Given the description of an element on the screen output the (x, y) to click on. 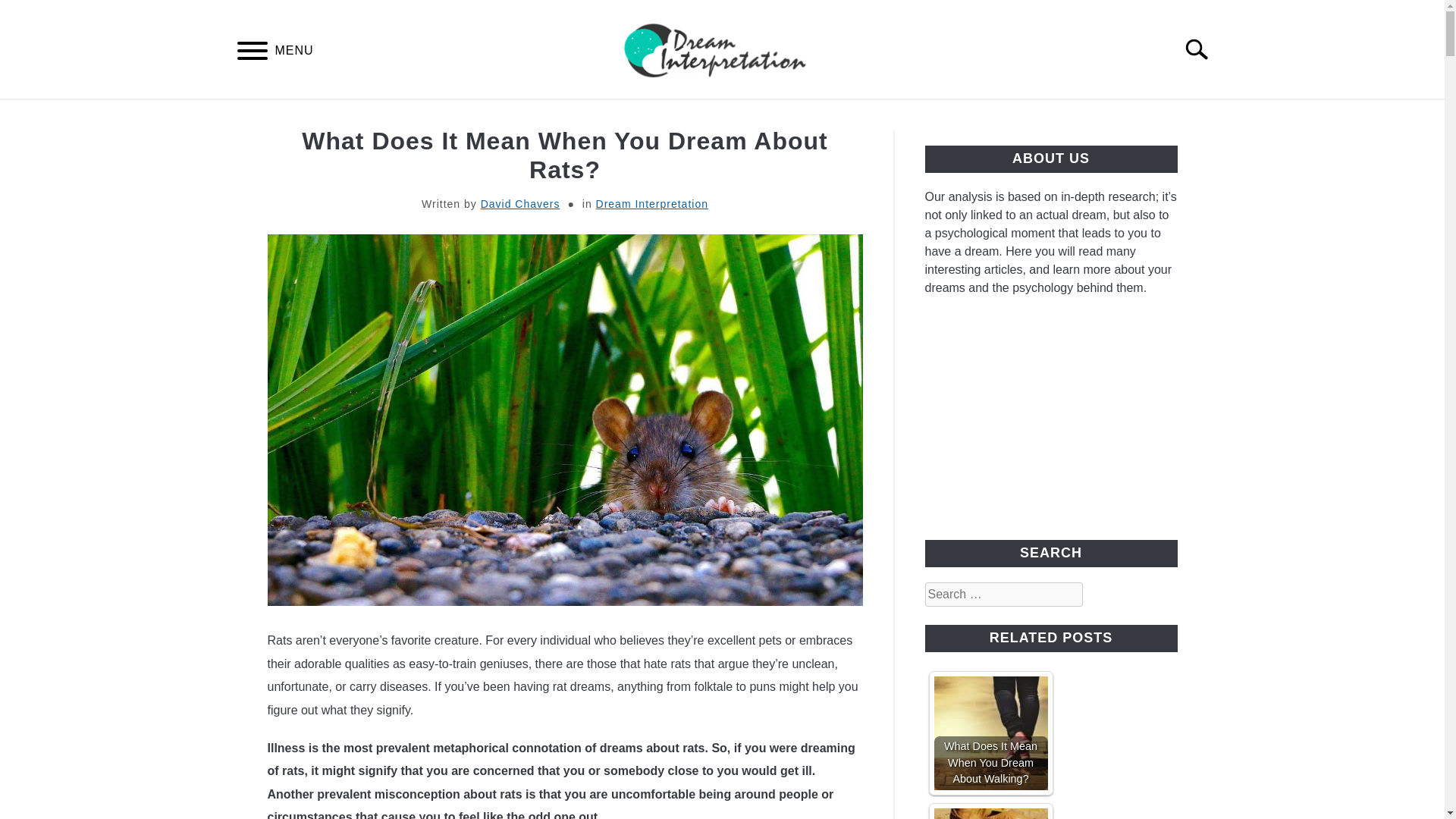
What Does It Mean When You Dream About Walking? (991, 733)
What Does It Mean When You Dream About Mud (991, 813)
MENU (251, 53)
What Does It Mean When You Dream About Walking? (991, 733)
Search (1203, 49)
David Chavers (520, 203)
What Does It Mean When You Dream About Mud (991, 813)
Dream Interpretation (651, 203)
